Given the description of an element on the screen output the (x, y) to click on. 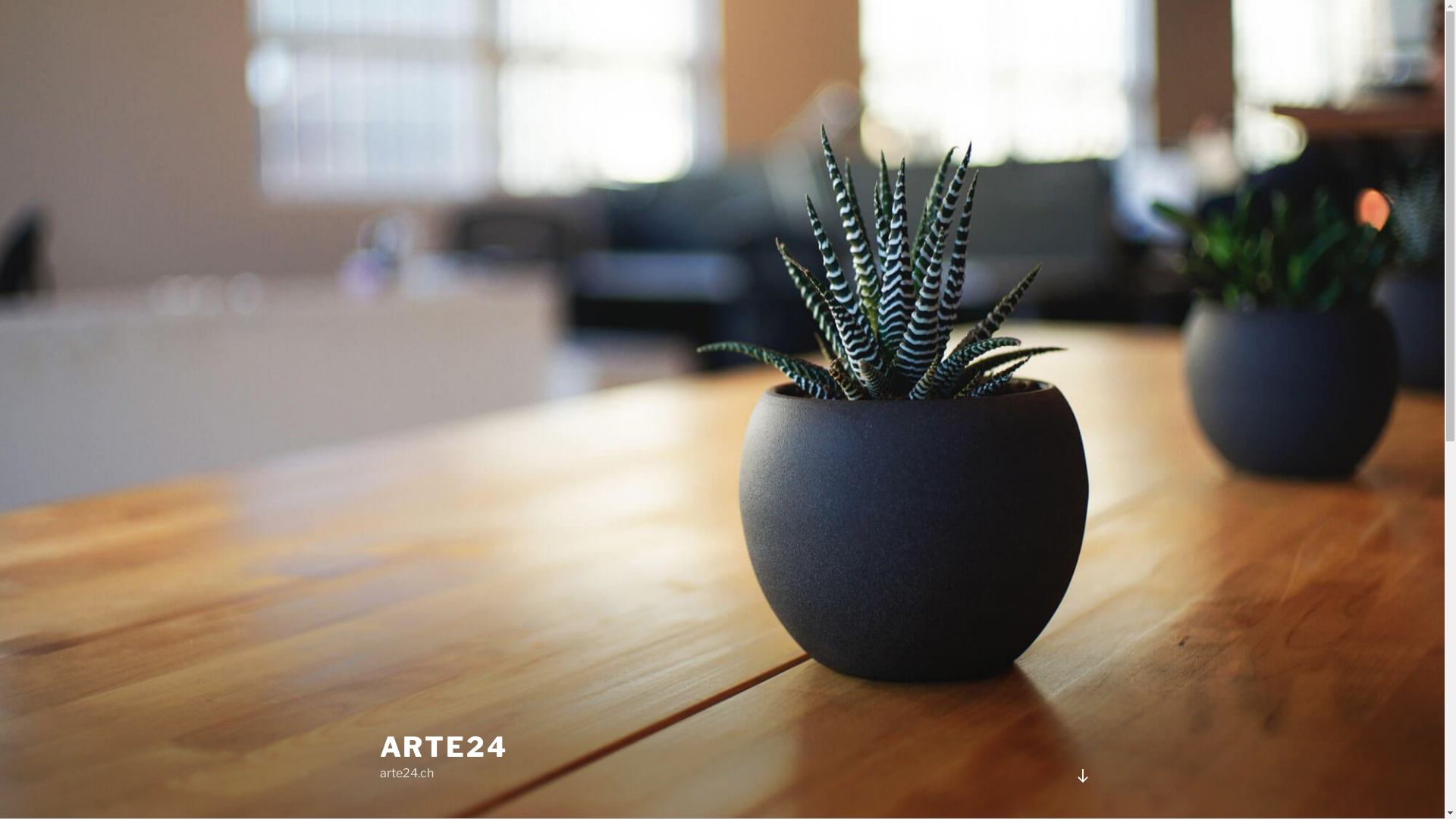
Zum Inhalt nach unten scrollen Element type: text (1082, 775)
ARTE24 Element type: text (443, 746)
